Given the description of an element on the screen output the (x, y) to click on. 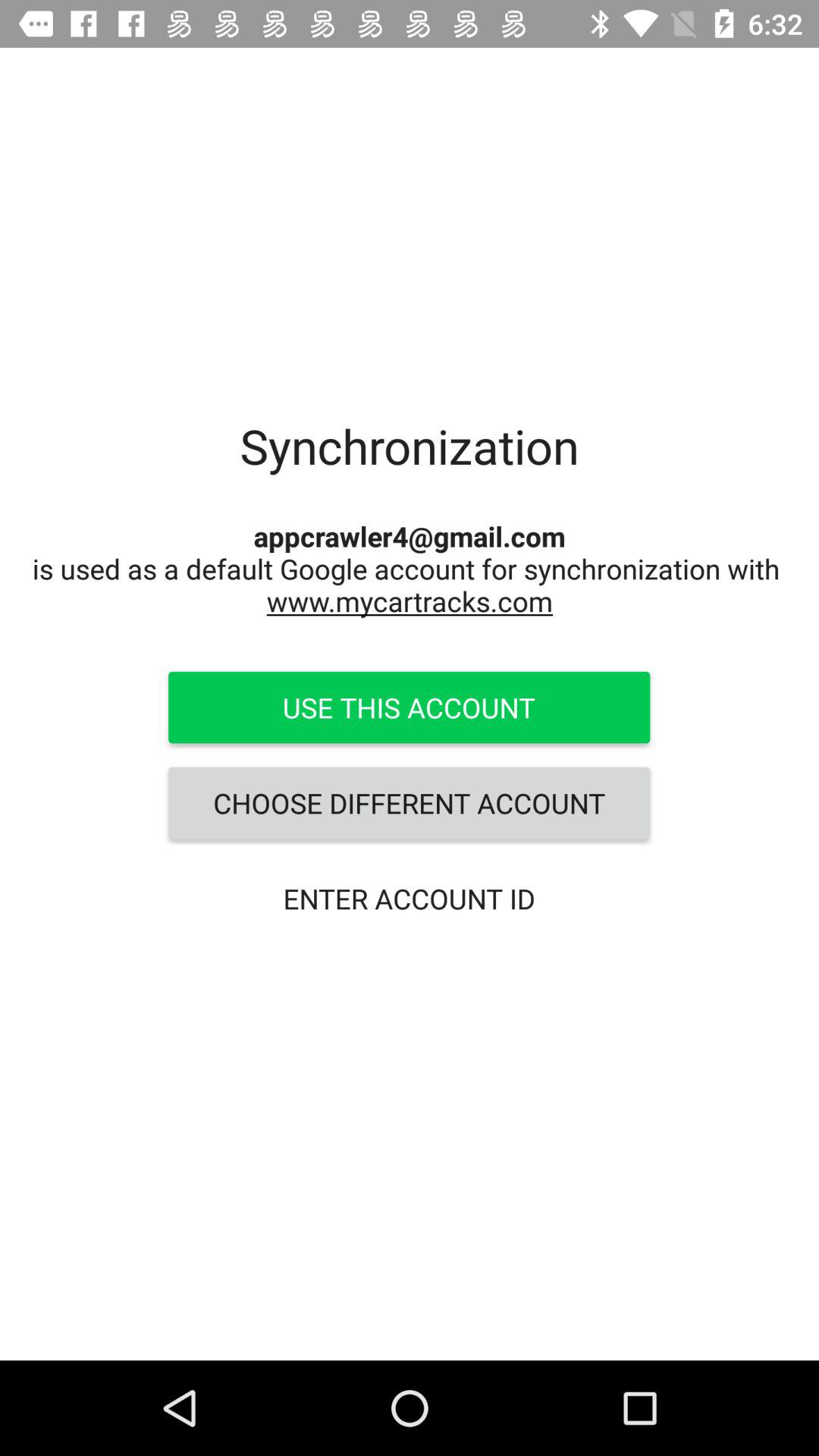
turn off icon above the choose different account (409, 707)
